Given the description of an element on the screen output the (x, y) to click on. 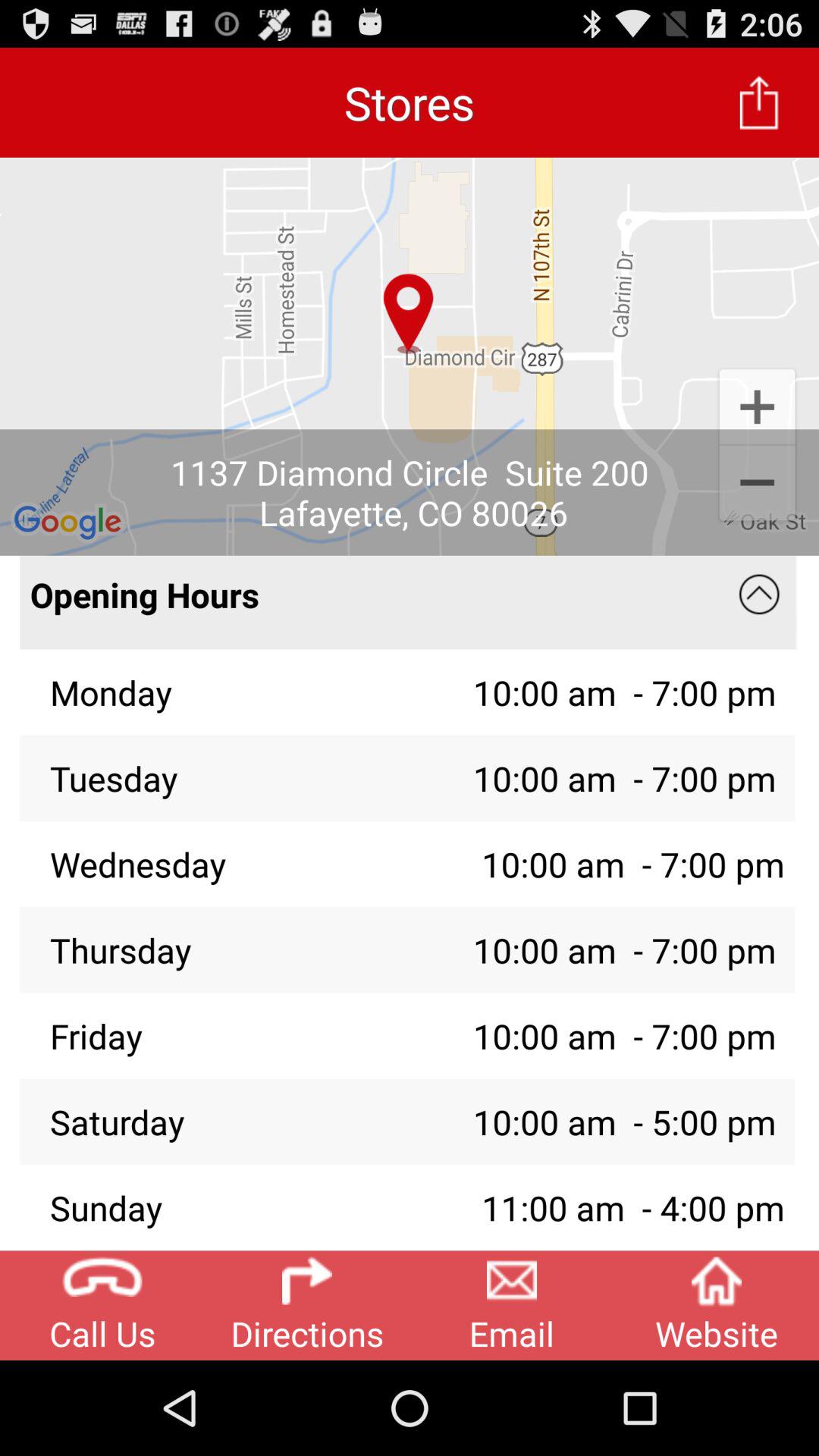
open the app to the left of website item (511, 1305)
